Given the description of an element on the screen output the (x, y) to click on. 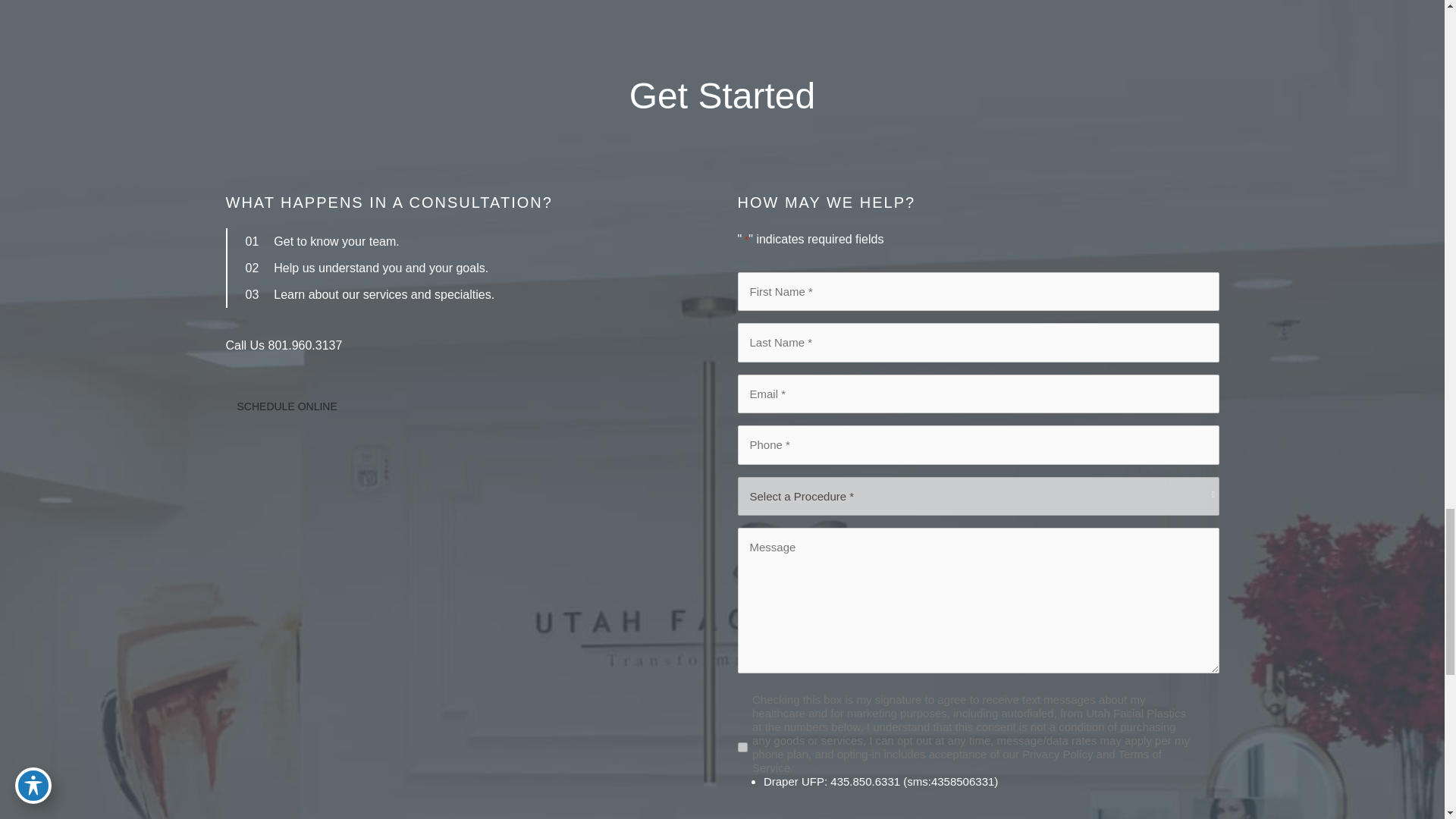
I agree (741, 747)
